Given the description of an element on the screen output the (x, y) to click on. 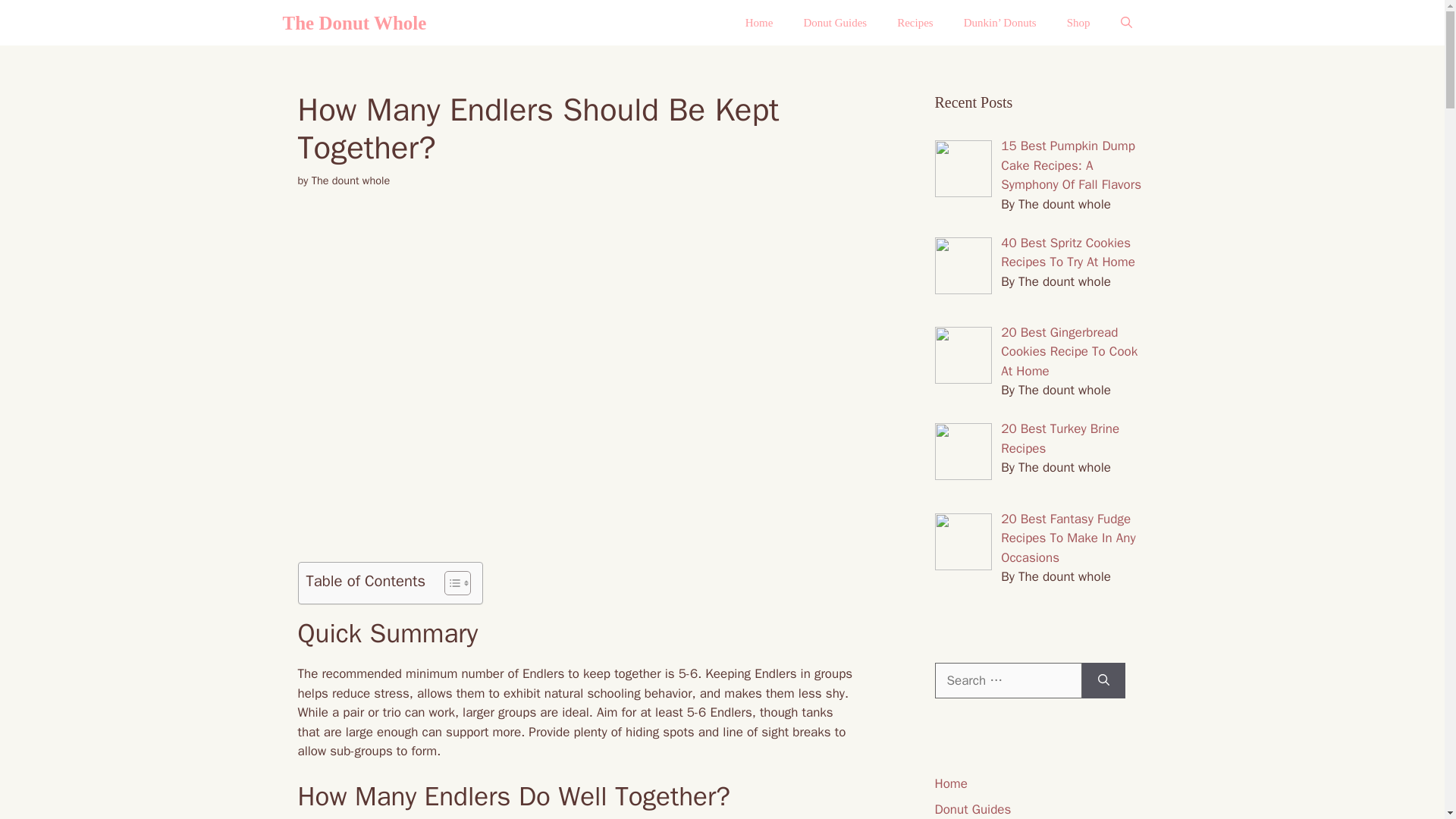
Home (759, 22)
The Donut Whole (354, 22)
Shop (1078, 22)
View all posts by The dount whole (350, 180)
Donut Guides (834, 22)
Recipes (914, 22)
The dount whole (350, 180)
